Given the description of an element on the screen output the (x, y) to click on. 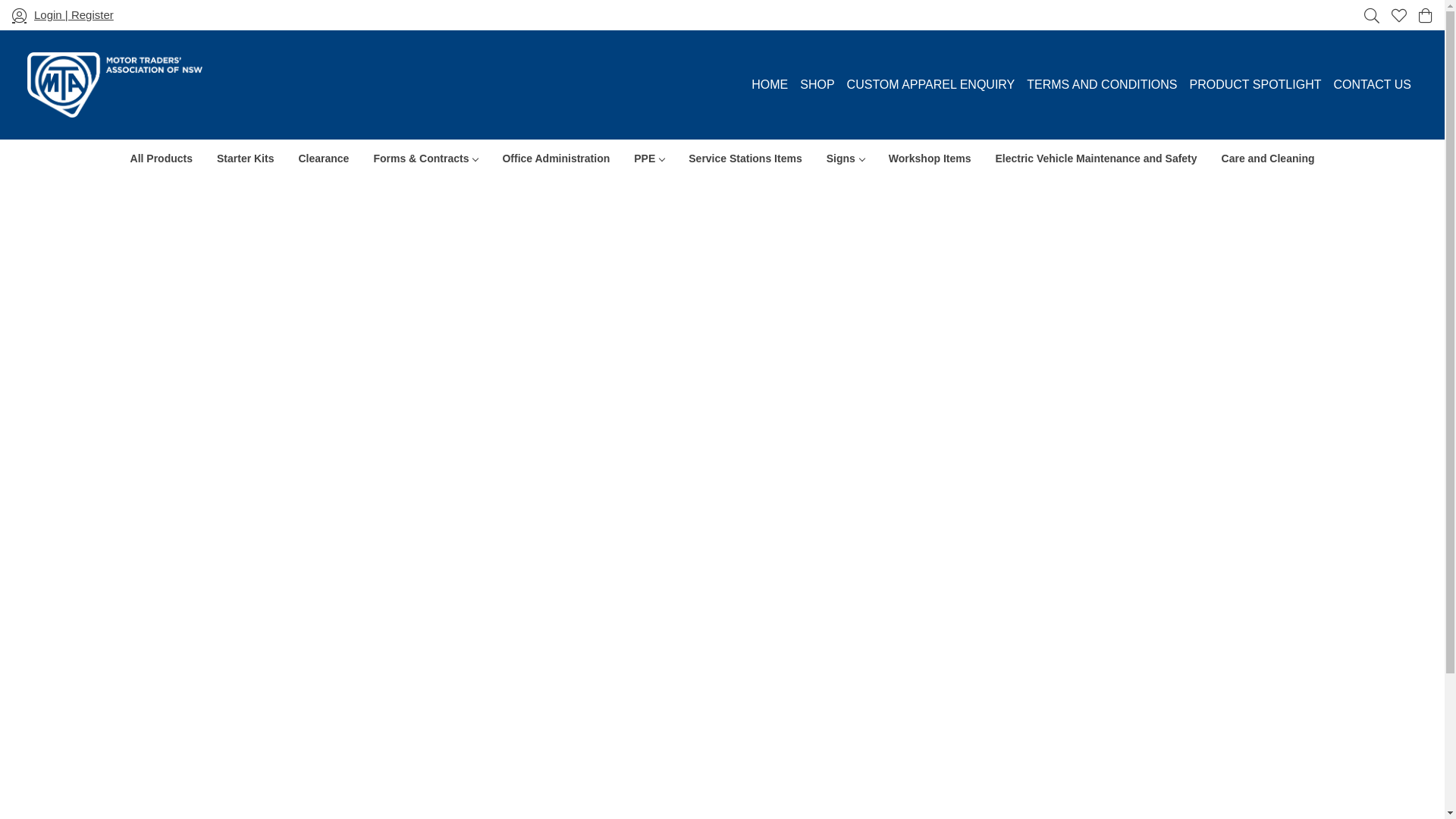
Forms & Contracts Element type: text (424, 158)
CONTACT US Element type: text (1372, 84)
Service Stations Items Element type: text (744, 158)
All Products Element type: text (161, 158)
PPE Element type: text (648, 158)
Office Administration Element type: text (555, 158)
SHOP Element type: text (816, 84)
HOME Element type: text (769, 84)
TERMS AND CONDITIONS Element type: text (1101, 84)
Starter Kits Element type: text (244, 158)
Clearance Element type: text (322, 158)
Care and Cleaning Element type: text (1268, 158)
Signs Element type: text (845, 158)
PRODUCT SPOTLIGHT Element type: text (1255, 84)
CUSTOM APPAREL ENQUIRY Element type: text (930, 84)
Login | Register Element type: text (62, 15)
Electric Vehicle Maintenance and Safety Element type: text (1095, 158)
Workshop Items Element type: text (929, 158)
